Given the description of an element on the screen output the (x, y) to click on. 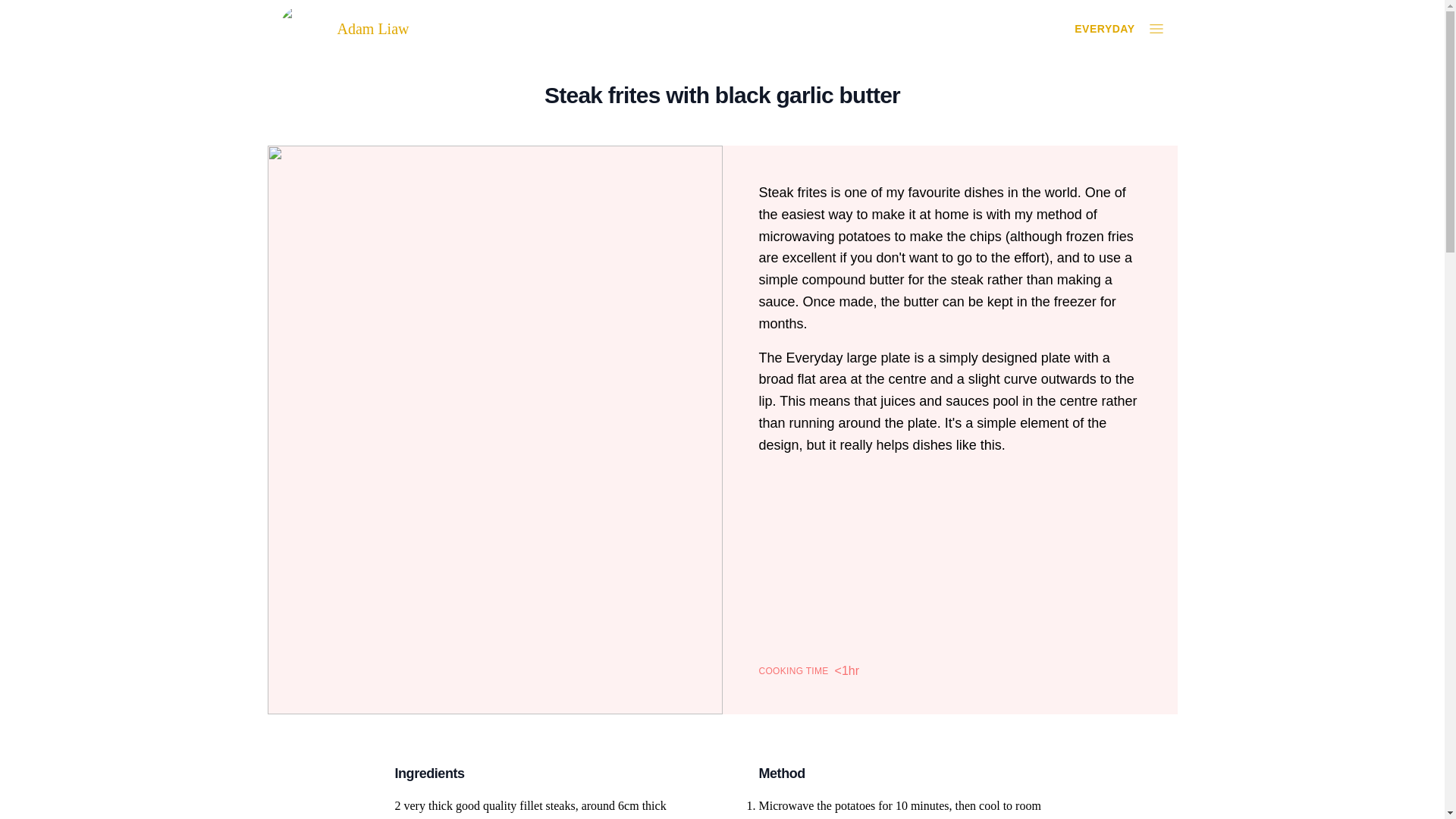
EVERYDAY (1104, 28)
Adam Liaw (362, 28)
Open panel (1155, 28)
Adam (301, 28)
